Given the description of an element on the screen output the (x, y) to click on. 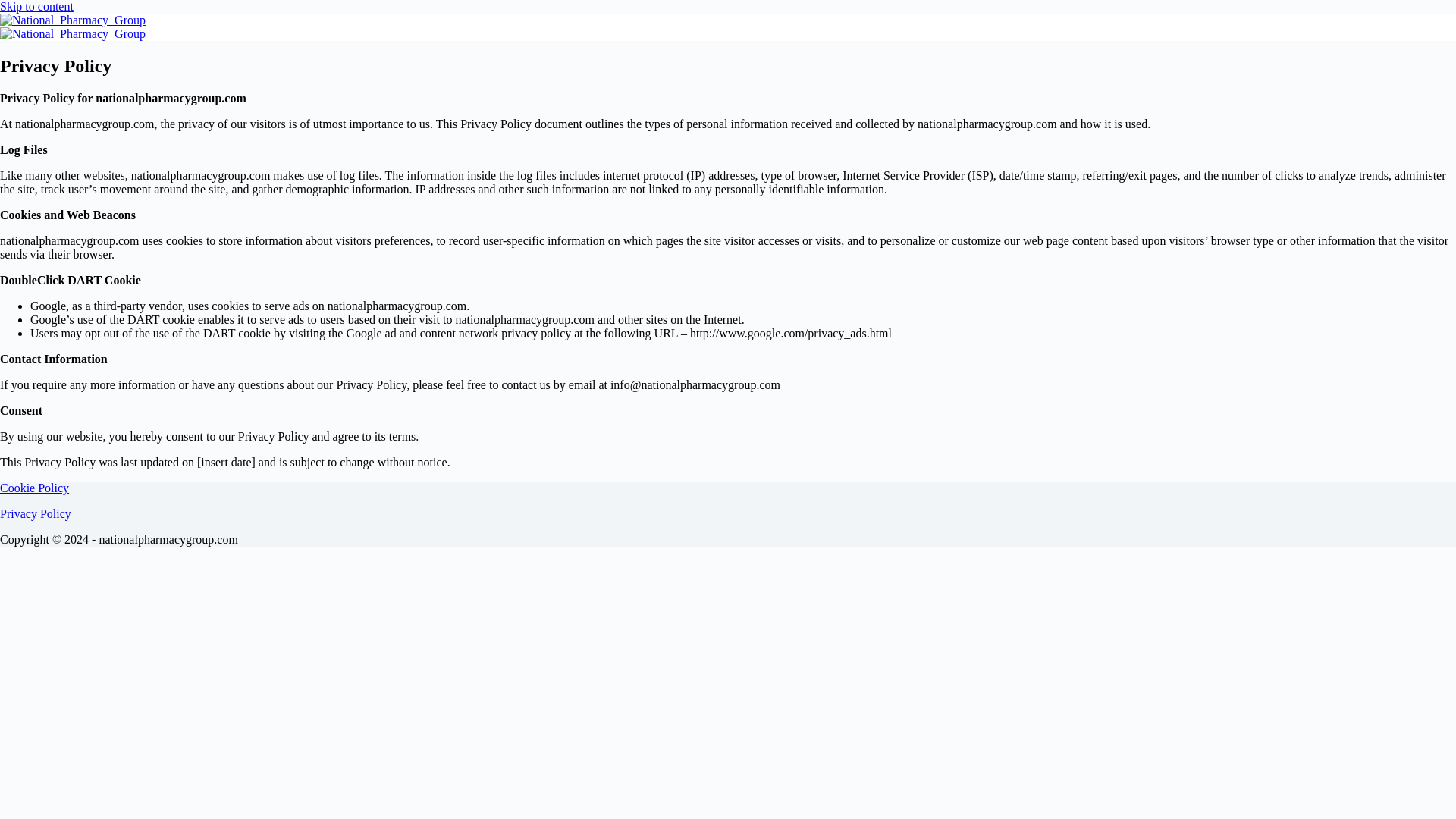
Privacy Policy (35, 513)
Skip to content (37, 6)
Cookie Policy (34, 487)
